Given the description of an element on the screen output the (x, y) to click on. 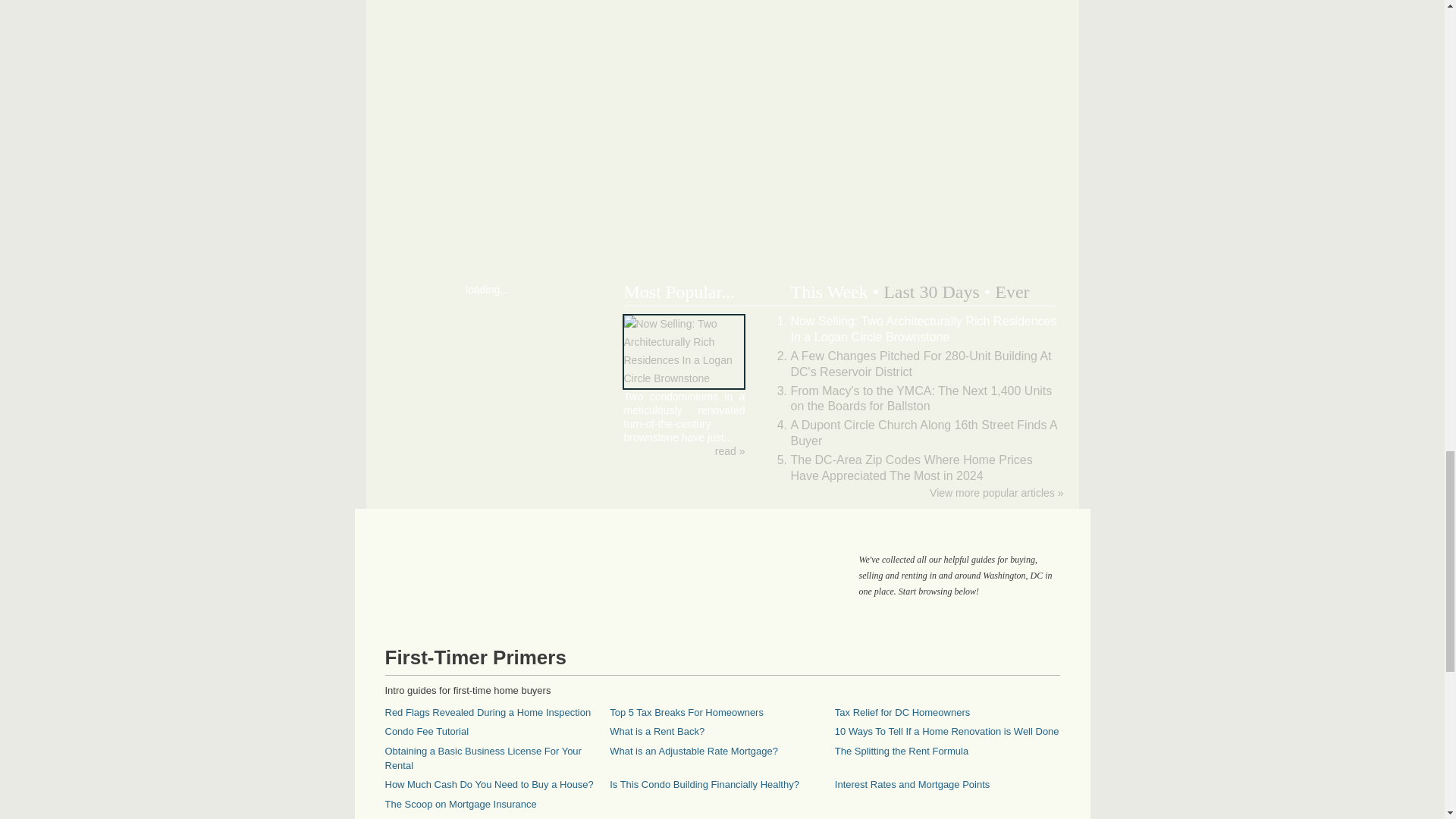
Ever (1011, 291)
Last 30 Days (931, 291)
Read the article (729, 450)
This Week (828, 291)
